Given the description of an element on the screen output the (x, y) to click on. 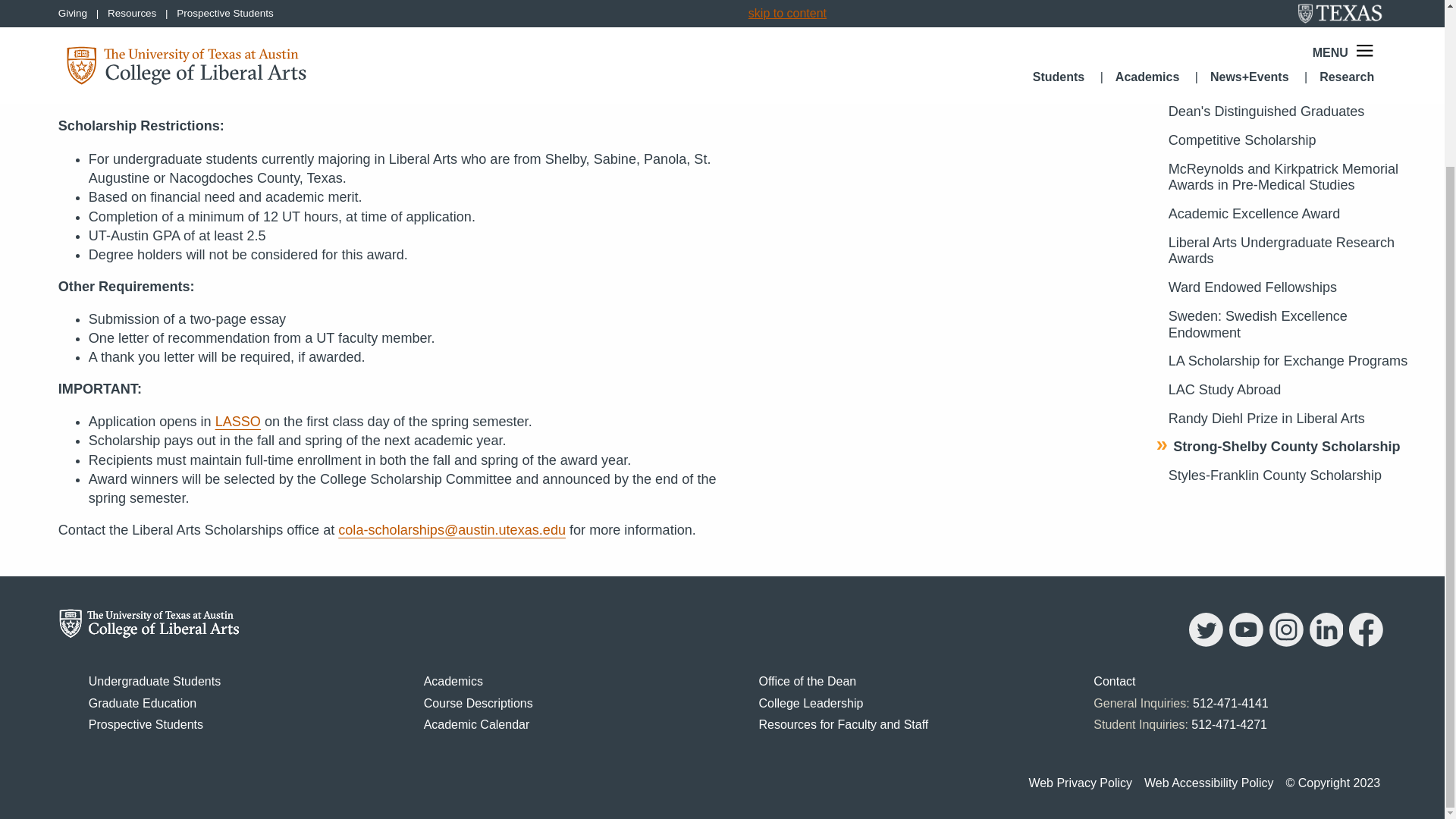
Instagram (1286, 642)
LinkedIn (1326, 642)
Twitter (1205, 642)
YouTube (1245, 642)
Facebook (1365, 642)
